Given the description of an element on the screen output the (x, y) to click on. 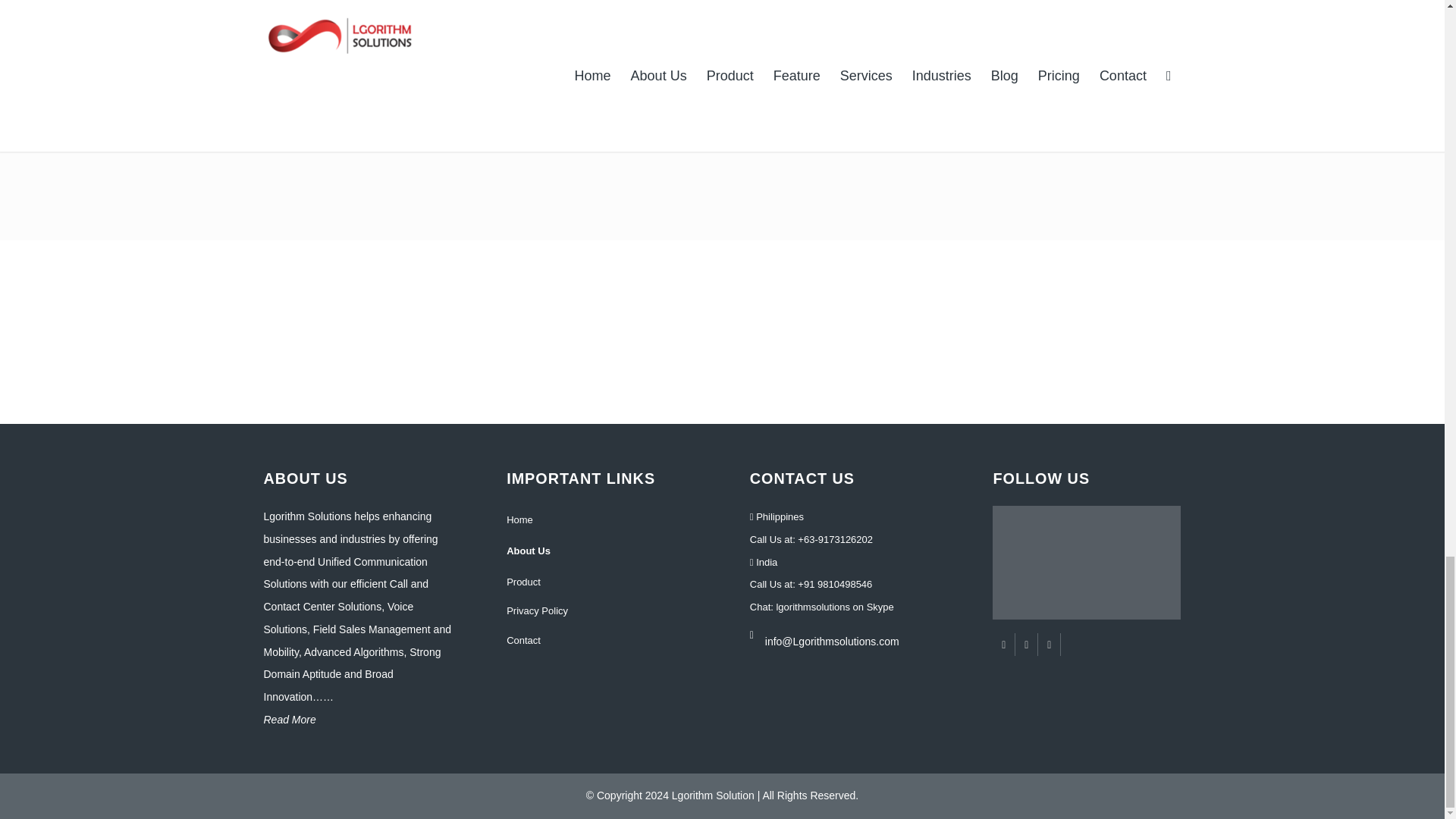
Email Address (851, 631)
Linkedin (1048, 644)
Twitter (1025, 644)
Facebook (1003, 644)
